Given the description of an element on the screen output the (x, y) to click on. 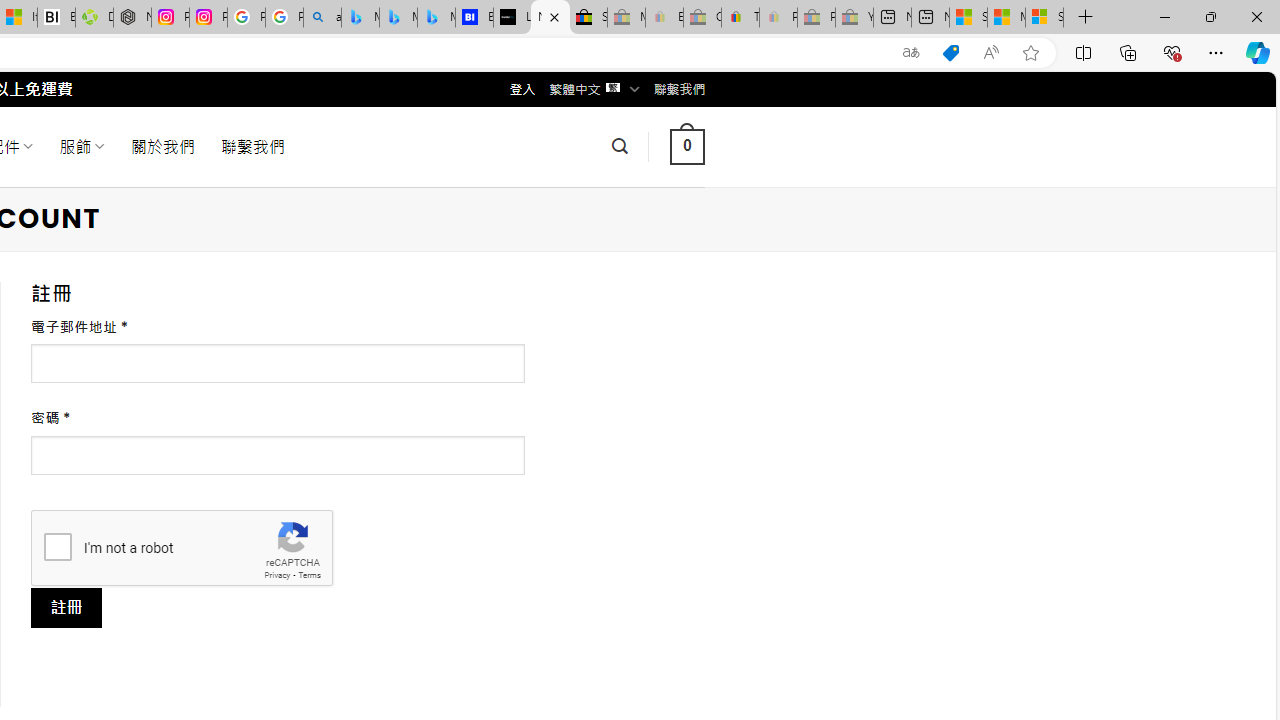
Payments Terms of Use | eBay.com - Sleeping (778, 17)
 0  (687, 146)
I'm not a robot (57, 546)
